Given the description of an element on the screen output the (x, y) to click on. 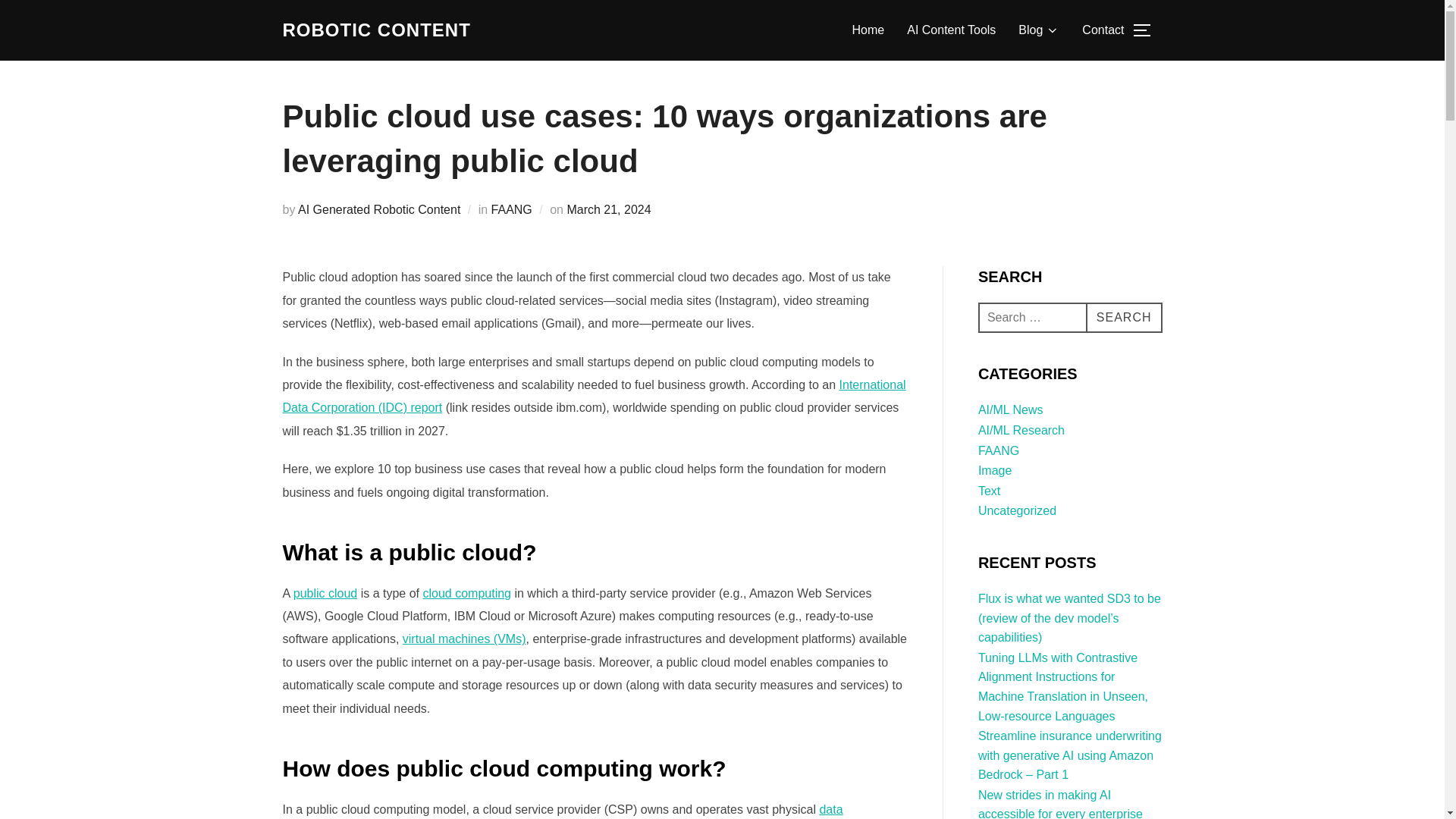
cloud computing (467, 593)
Contact (1102, 30)
Generative Text, Images and Motion (376, 30)
public cloud (326, 593)
March 21, 2024 (608, 209)
AI Generated Robotic Content (379, 209)
FAANG (512, 209)
Home (868, 30)
AI Content Tools (951, 30)
Blog (1038, 30)
